Given the description of an element on the screen output the (x, y) to click on. 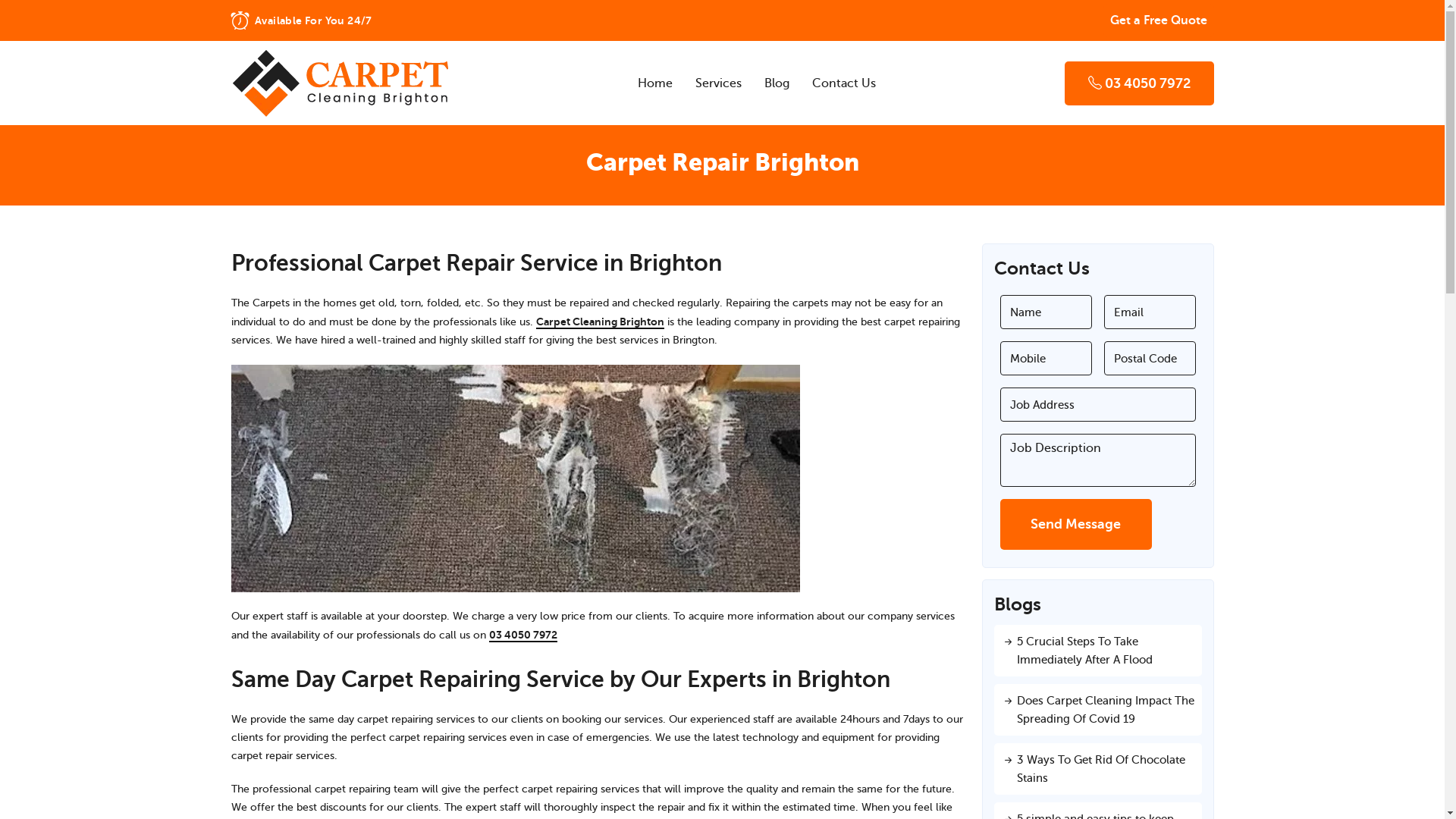
3 Ways To Get Rid Of Chocolate Stains Element type: text (1097, 768)
03 4050 7972 Element type: text (522, 635)
Contact Us Element type: text (843, 83)
Does Carpet Cleaning Impact The Spreading Of Covid 19 Element type: text (1097, 709)
5 Crucial Steps To Take Immediately After A Flood Element type: text (1097, 650)
Services Element type: text (718, 83)
Send Message Element type: text (1075, 523)
Blog Element type: text (776, 83)
03 4050 7972 Element type: text (1139, 82)
Home Element type: text (655, 83)
Carpet Cleaning Brighton Element type: text (599, 322)
Get a Free Quote Element type: text (1157, 20)
